Given the description of an element on the screen output the (x, y) to click on. 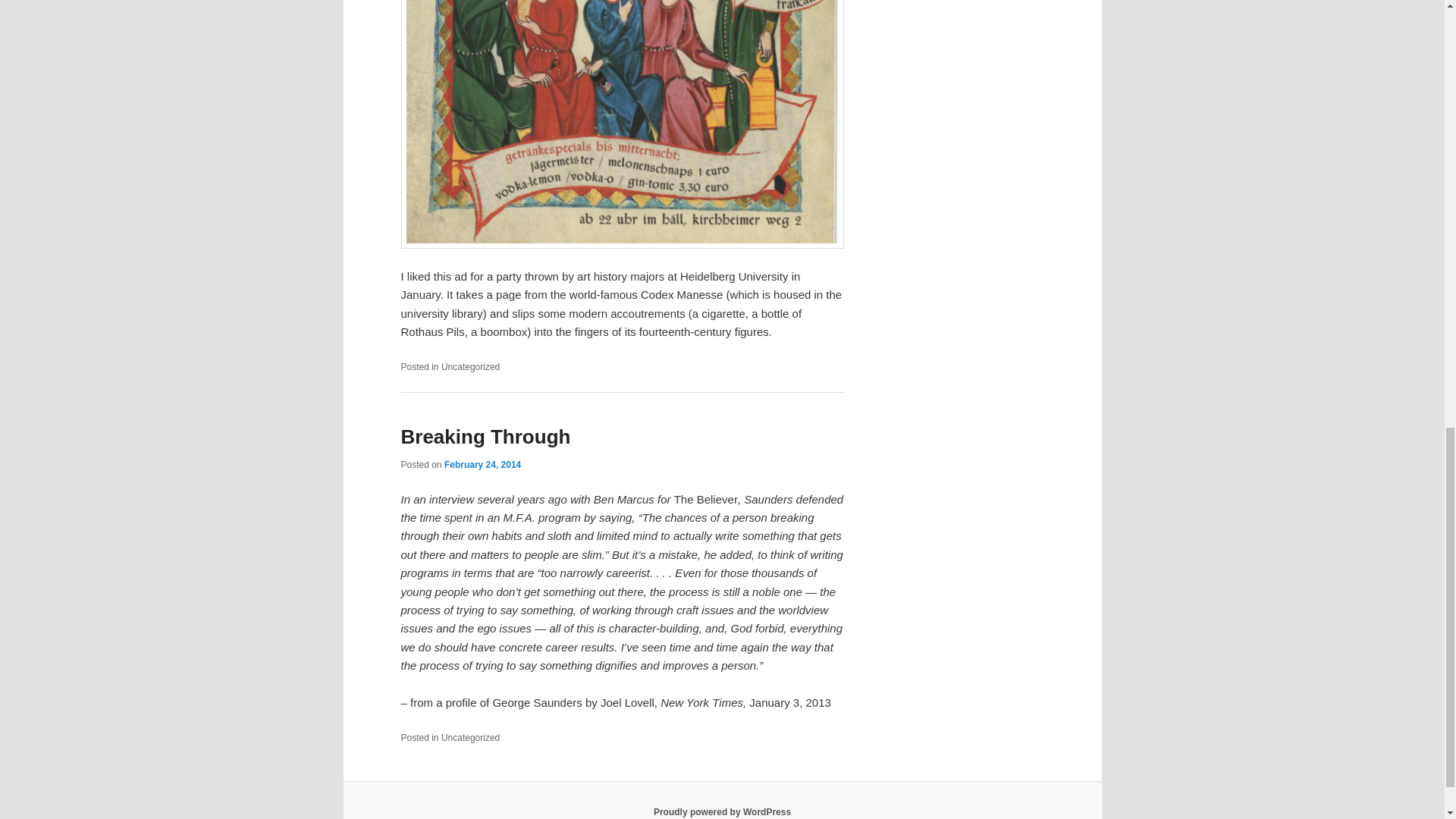
Semantic Personal Publishing Platform (721, 811)
Breaking Through (485, 436)
6:32 pm (482, 464)
February 24, 2014 (482, 464)
Proudly powered by WordPress (721, 811)
